Given the description of an element on the screen output the (x, y) to click on. 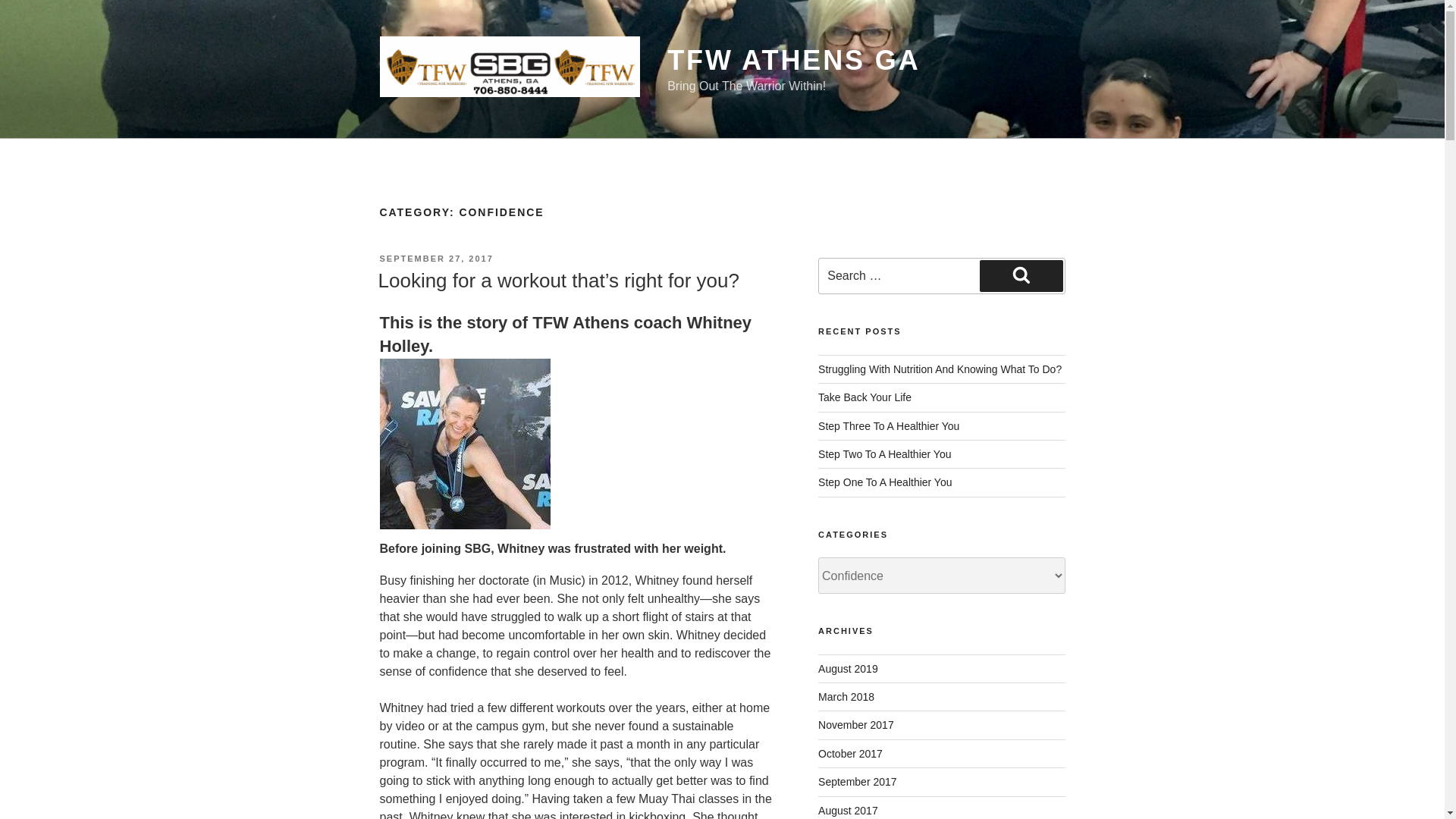
Take Back Your Life (864, 397)
Step Three To A Healthier You (888, 426)
Struggling With Nutrition And Knowing What To Do? (939, 369)
November 2017 (855, 725)
August 2017 (847, 810)
Step Two To A Healthier You (884, 453)
March 2018 (846, 696)
Search (1020, 275)
SEPTEMBER 27, 2017 (435, 257)
Step One To A Healthier You (885, 481)
August 2019 (847, 668)
October 2017 (850, 753)
TFW ATHENS GA (793, 60)
September 2017 (857, 781)
